Given the description of an element on the screen output the (x, y) to click on. 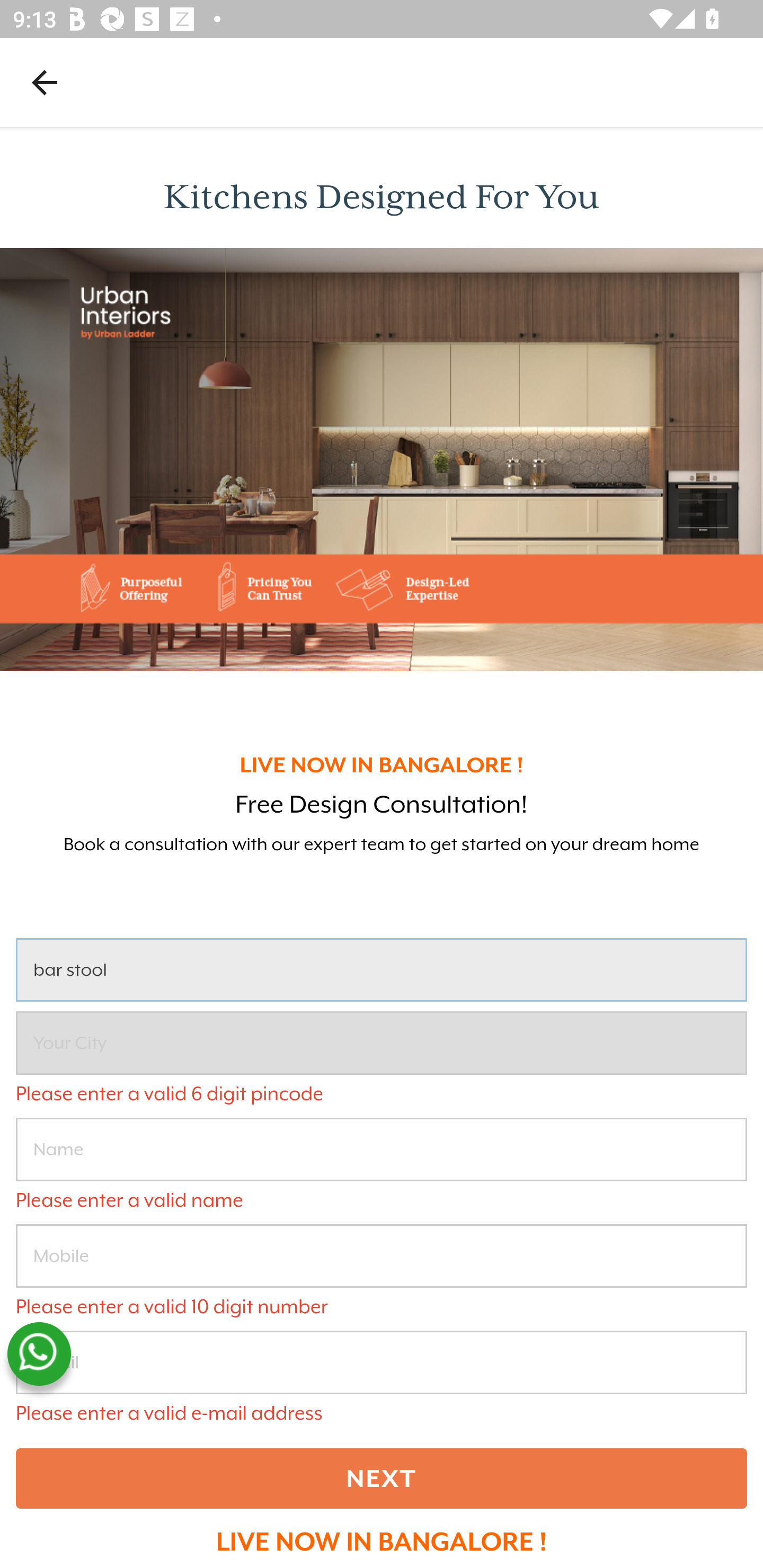
Navigate up (44, 82)
bar stool (381, 970)
whatsapp (38, 1353)
Next (381, 1478)
